Given the description of an element on the screen output the (x, y) to click on. 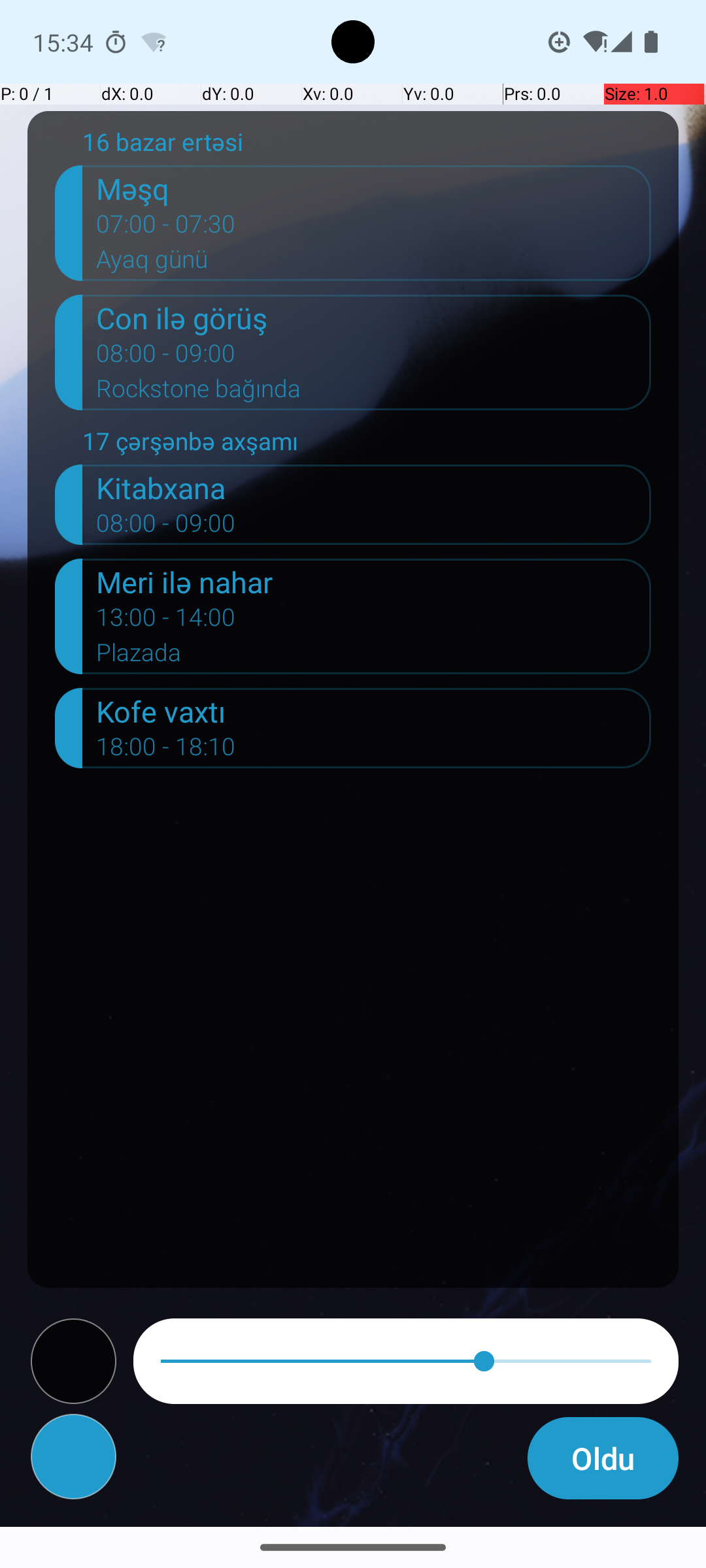
Oldu Element type: android.widget.Button (602, 1458)
16 bazar ertəsi Element type: android.widget.TextView (366, 144)
17 çərşənbə axşamı Element type: android.widget.TextView (366, 444)
Məşq Element type: android.widget.TextView (373, 187)
07:00 - 07:30 Element type: android.widget.TextView (165, 227)
Ayaq günü Element type: android.widget.TextView (373, 262)
Con ilə görüş Element type: android.widget.TextView (373, 316)
08:00 - 09:00 Element type: android.widget.TextView (165, 357)
Rockstone bağında Element type: android.widget.TextView (373, 392)
Kitabxana Element type: android.widget.TextView (373, 486)
Meri ilə nahar Element type: android.widget.TextView (373, 580)
13:00 - 14:00 Element type: android.widget.TextView (165, 620)
Plazada Element type: android.widget.TextView (373, 656)
Kofe vaxtı Element type: android.widget.TextView (373, 710)
18:00 - 18:10 Element type: android.widget.TextView (165, 750)
